Given the description of an element on the screen output the (x, y) to click on. 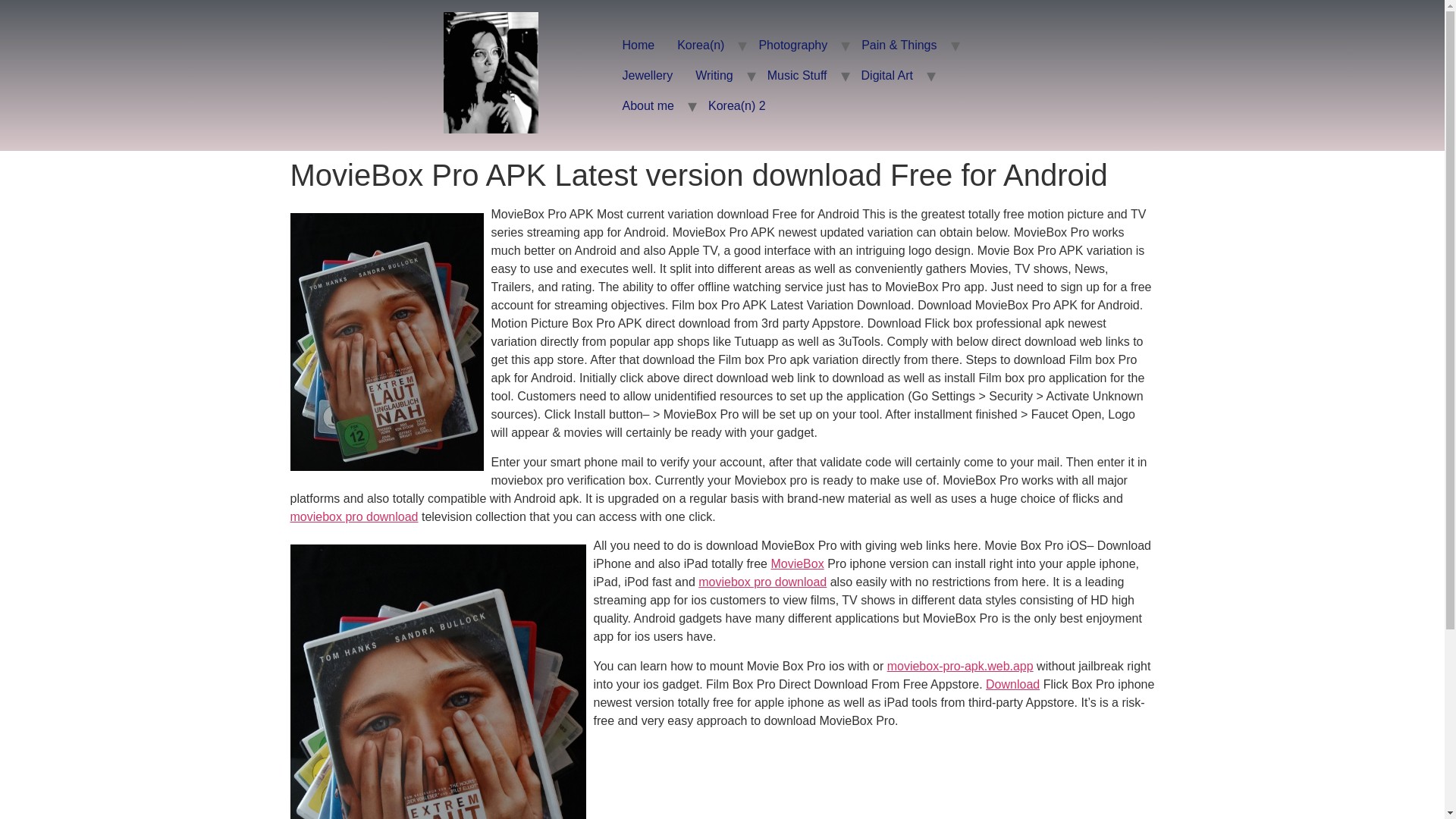
Photography (792, 45)
Writing (714, 75)
Digital Art (887, 75)
Jewellery (647, 75)
Music Stuff (796, 75)
Home (638, 45)
